Given the description of an element on the screen output the (x, y) to click on. 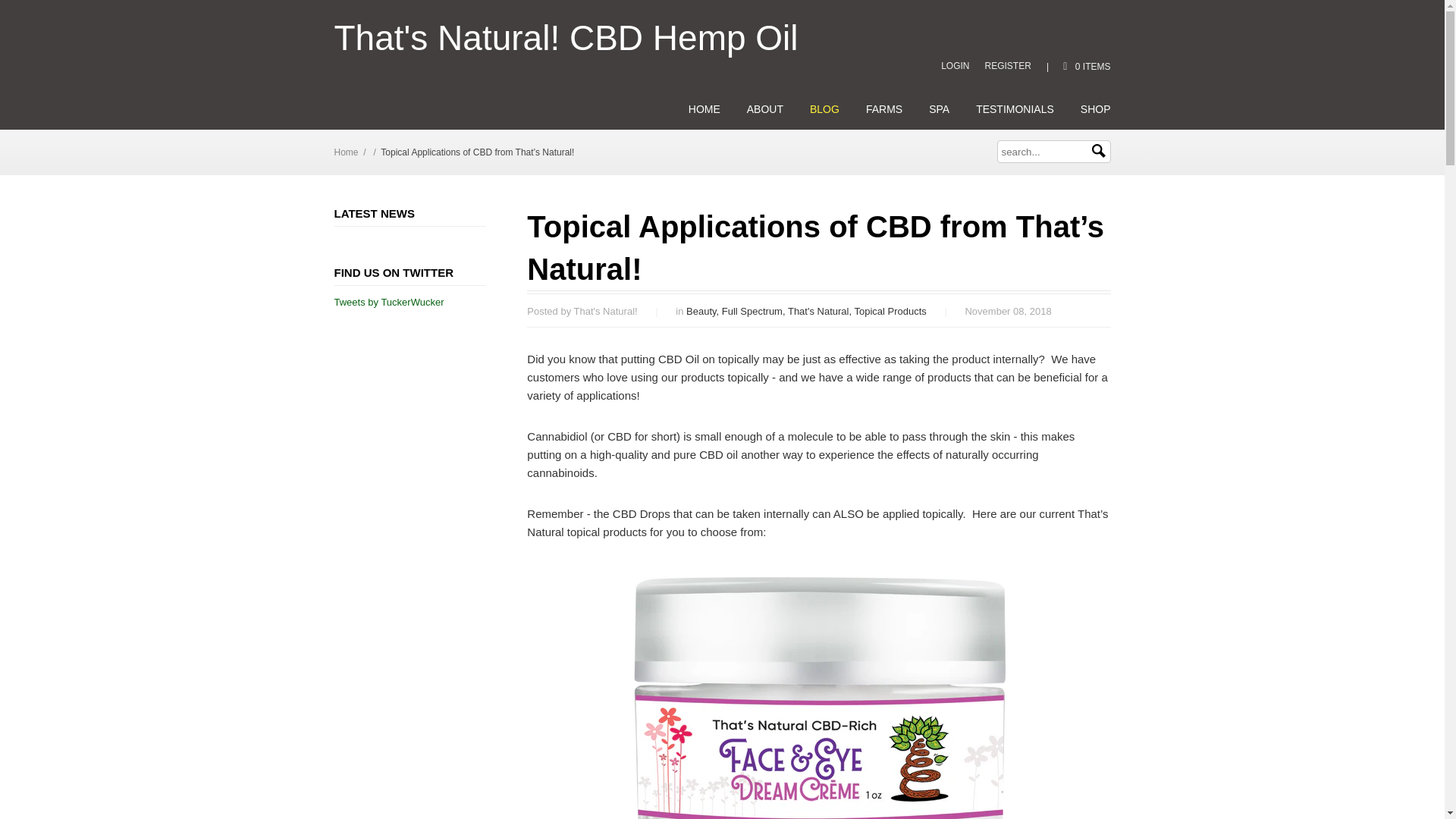
SHOP (1095, 109)
Topical Products (889, 310)
Search (1098, 151)
LOGIN (954, 65)
Search (1098, 151)
That'S Natural, (820, 310)
ABOUT (764, 109)
Beauty, (703, 310)
REGISTER (1007, 65)
That's Natural! CBD Hemp Oil (565, 37)
FARMS (884, 109)
BLOG (824, 109)
Home (345, 152)
Full Spectrum, (754, 310)
Tweets by TuckerWucker (388, 301)
